Given the description of an element on the screen output the (x, y) to click on. 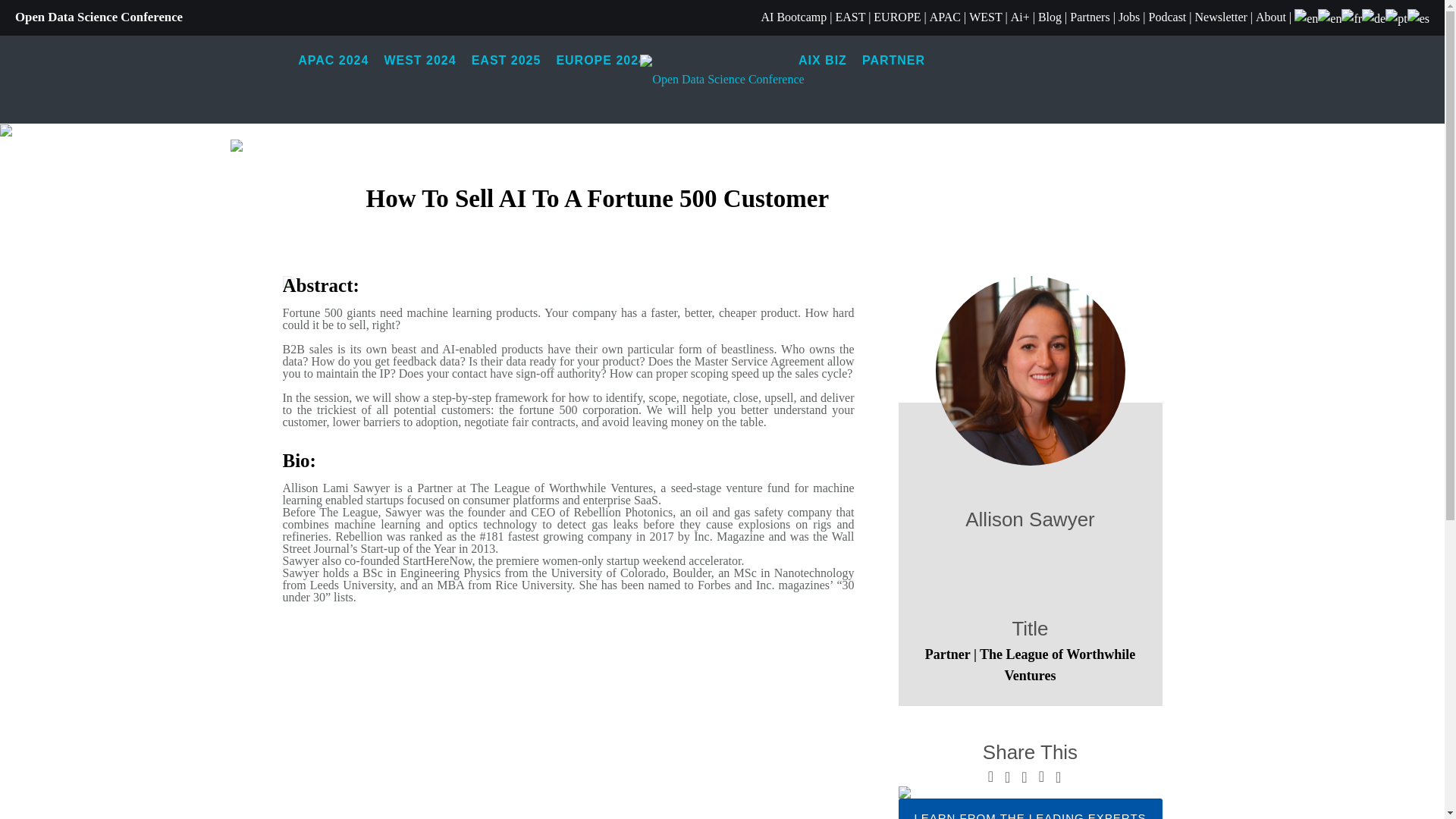
AIX BIZ (822, 60)
Newsletter (1221, 16)
WEST (985, 16)
AI Bootcamp (794, 16)
Blog (1049, 16)
Europe 2024 (600, 60)
Podcast (1167, 16)
EAST (849, 16)
PARTNER (893, 60)
EUROPE (896, 16)
